Given the description of an element on the screen output the (x, y) to click on. 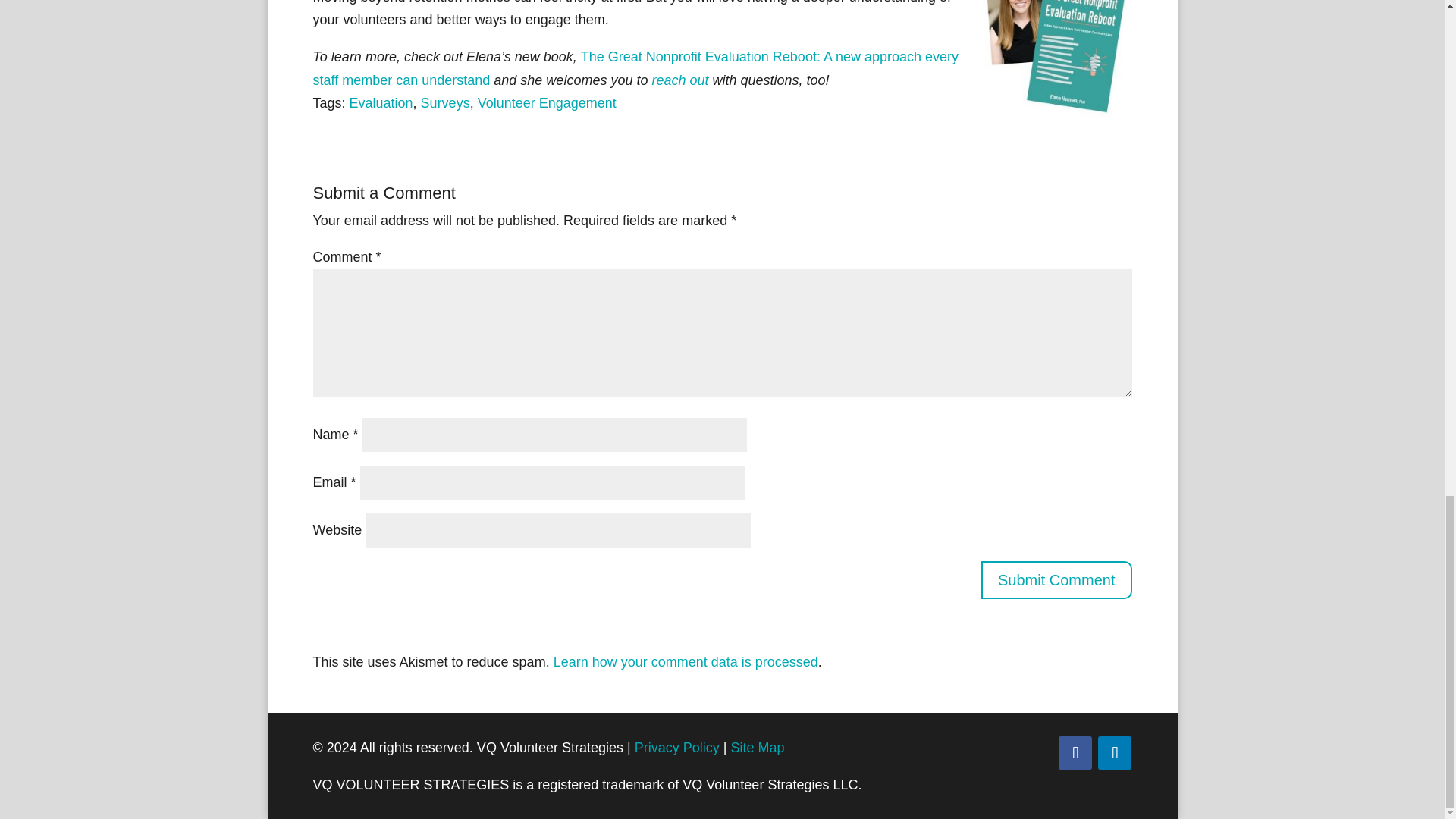
Follow on LinkedIn (1114, 752)
Follow on Facebook (1075, 752)
Submit Comment (1056, 579)
